Given the description of an element on the screen output the (x, y) to click on. 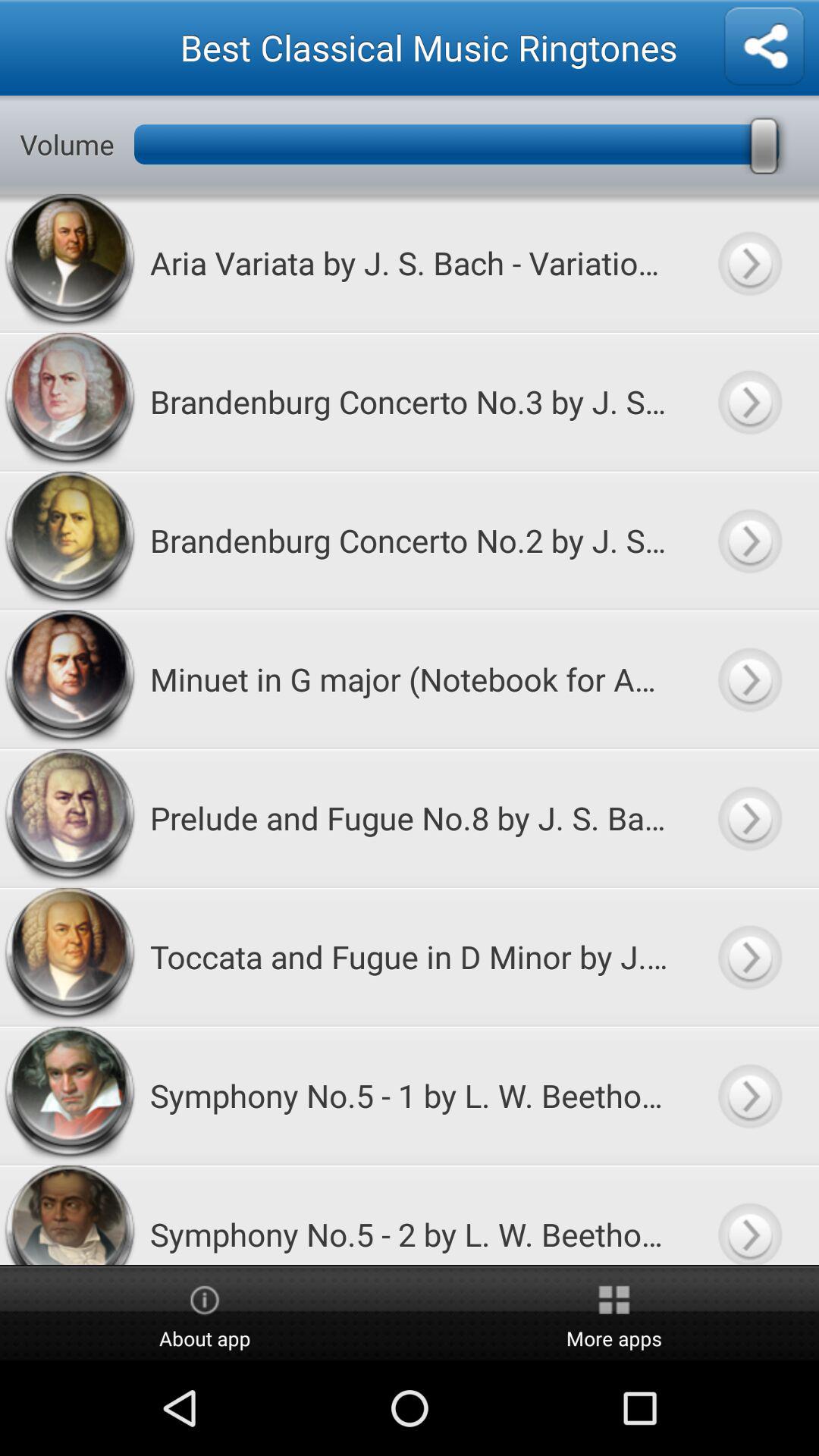
play (749, 956)
